Given the description of an element on the screen output the (x, y) to click on. 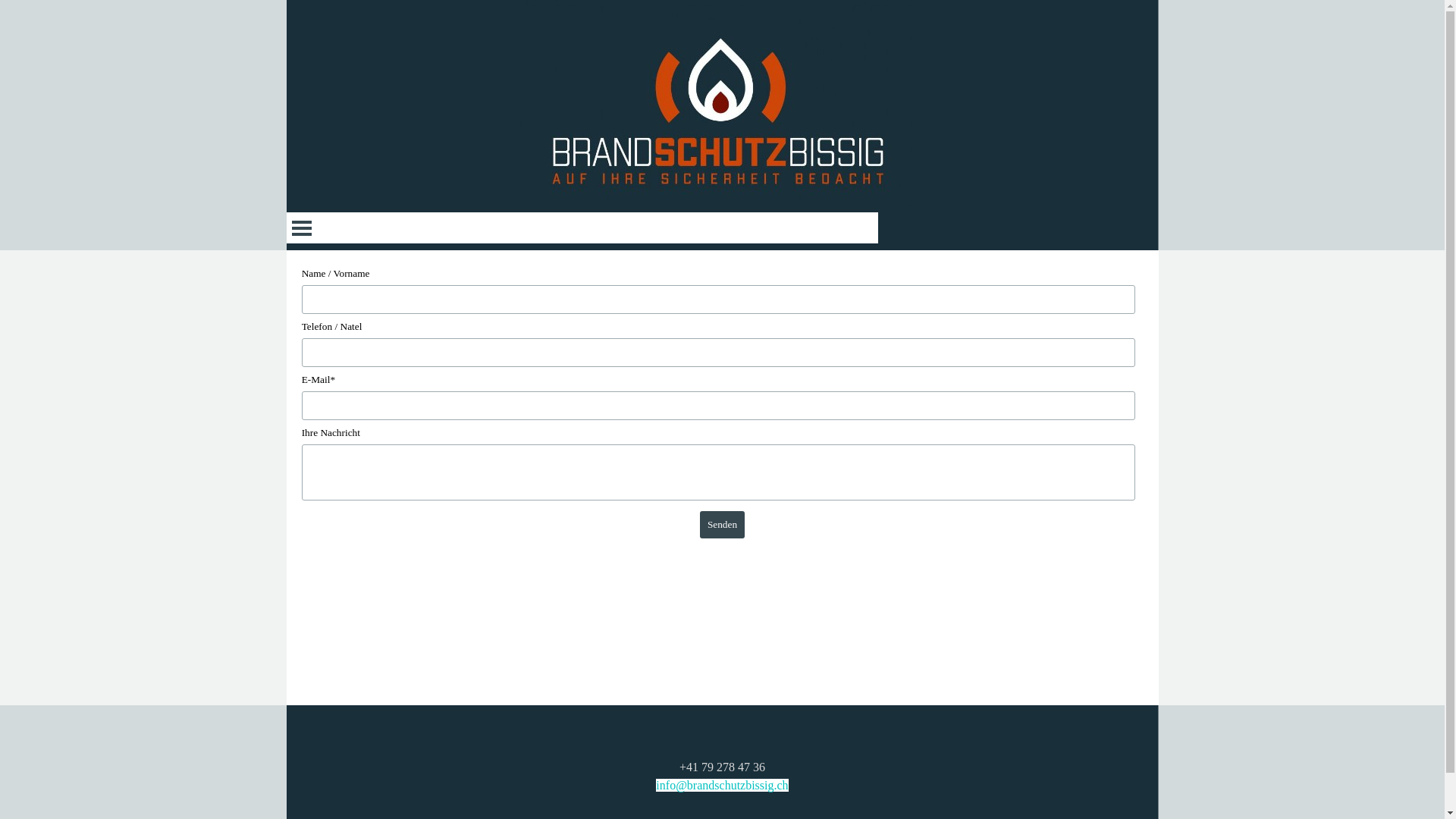
info@brandschutzbissig.ch Element type: text (721, 784)
